Given the description of an element on the screen output the (x, y) to click on. 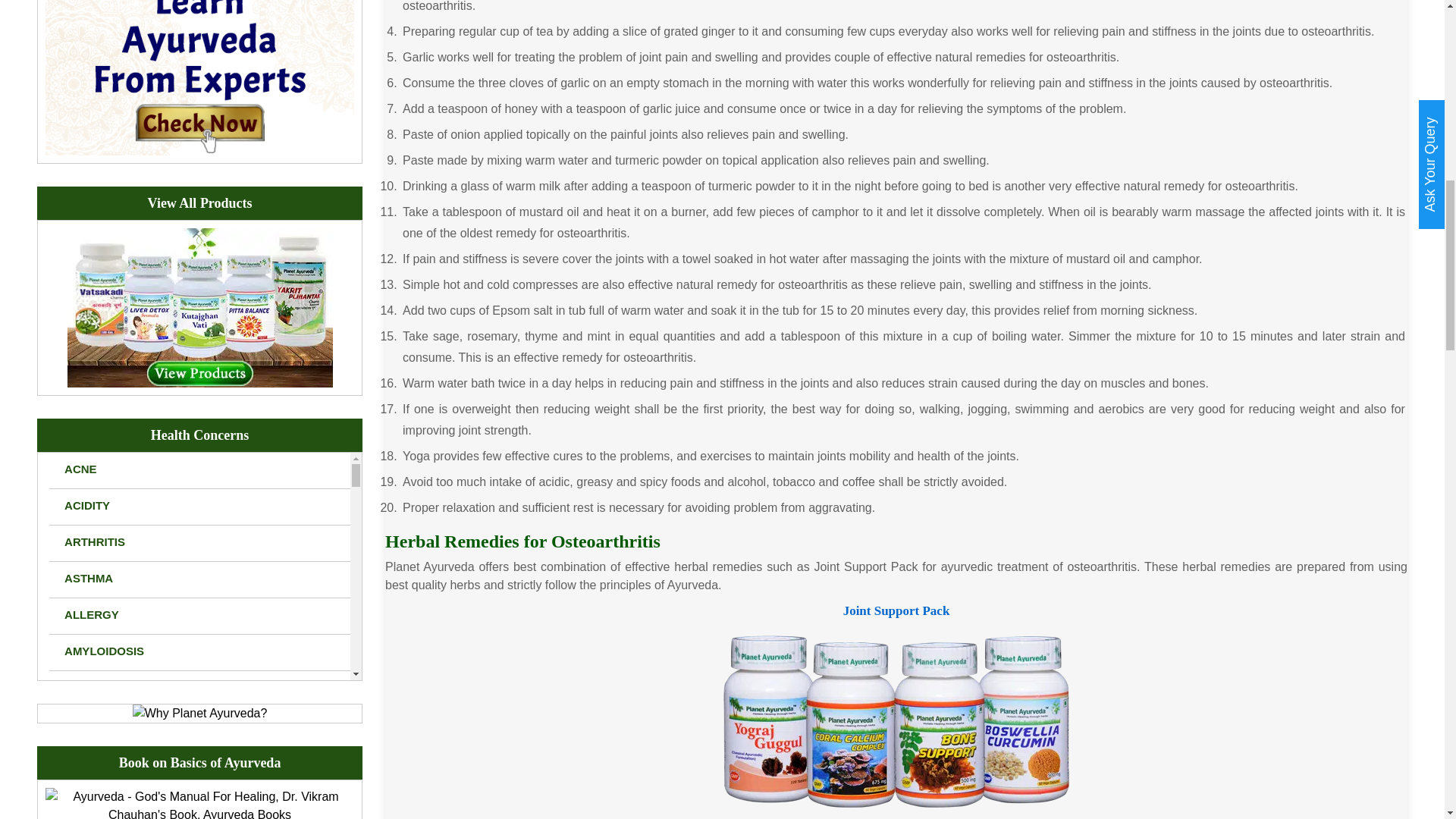
Ayurveda medcines and Herbal Store (199, 306)
Why Planet Ayurveda? (199, 713)
Joint Support Pack (896, 720)
